Given the description of an element on the screen output the (x, y) to click on. 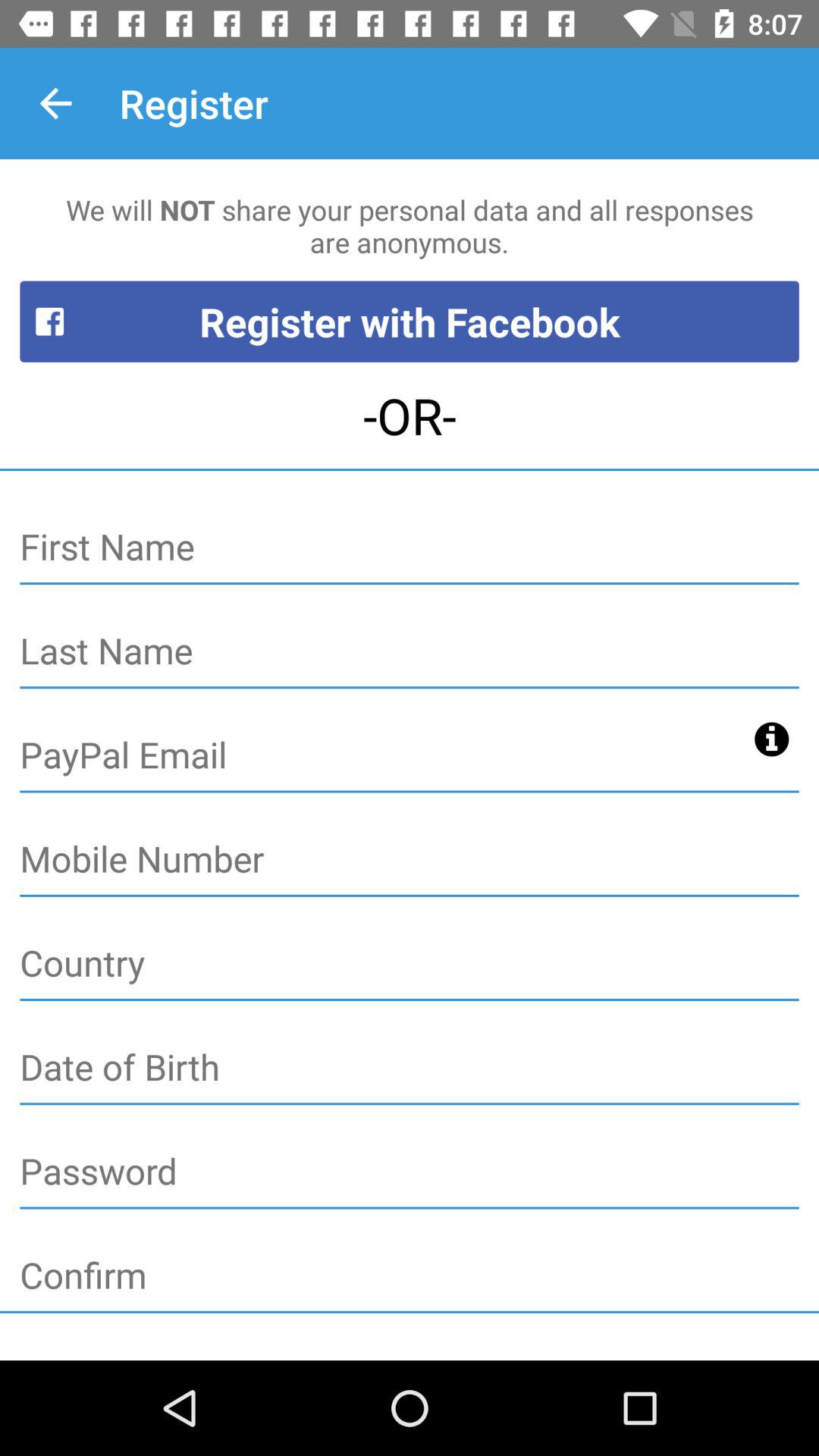
enter country during registration (409, 964)
